Given the description of an element on the screen output the (x, y) to click on. 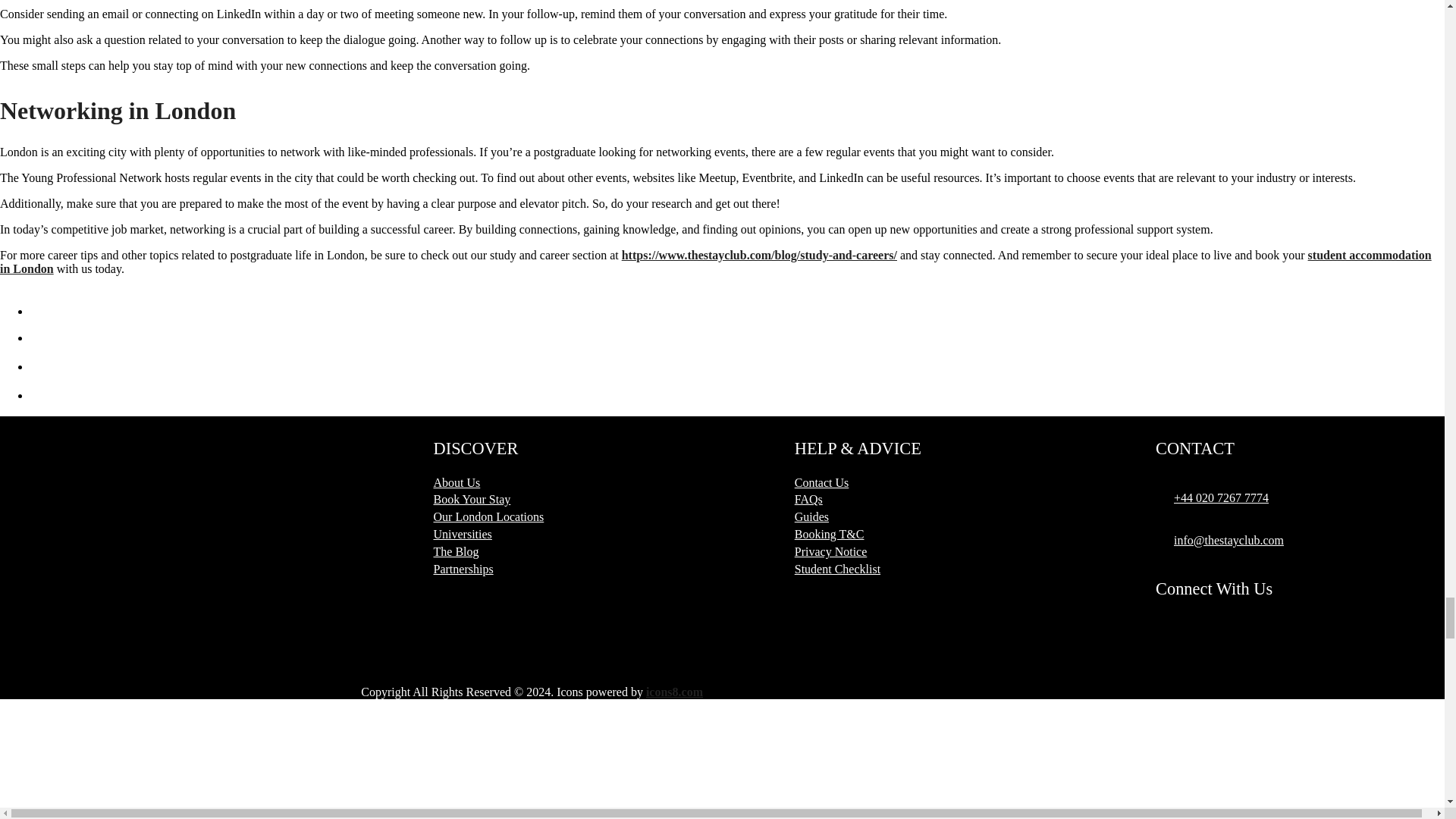
Print (45, 309)
